Given the description of an element on the screen output the (x, y) to click on. 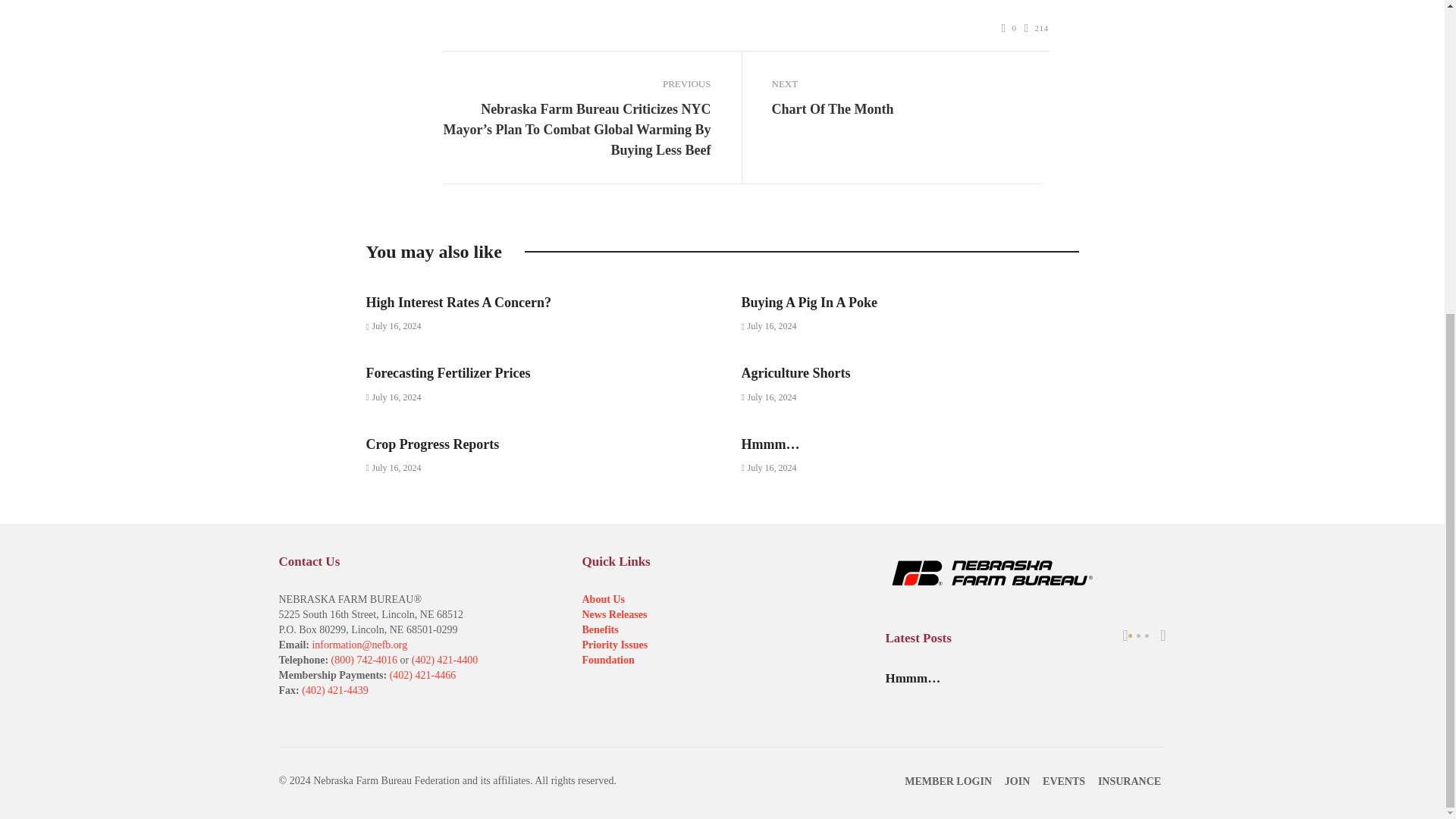
July 16, 2024 at 8:57 am (768, 326)
July 16, 2024 at 8:58 am (392, 326)
